Given the description of an element on the screen output the (x, y) to click on. 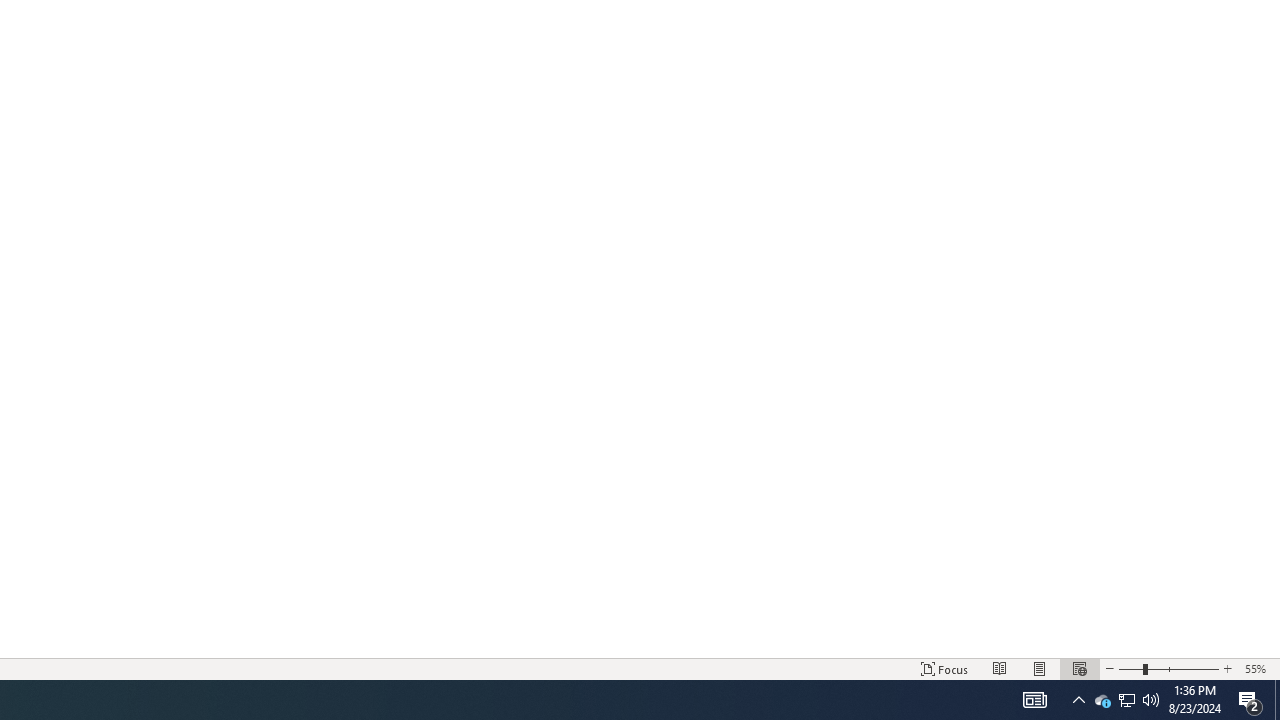
Zoom 55% (1258, 668)
